Given the description of an element on the screen output the (x, y) to click on. 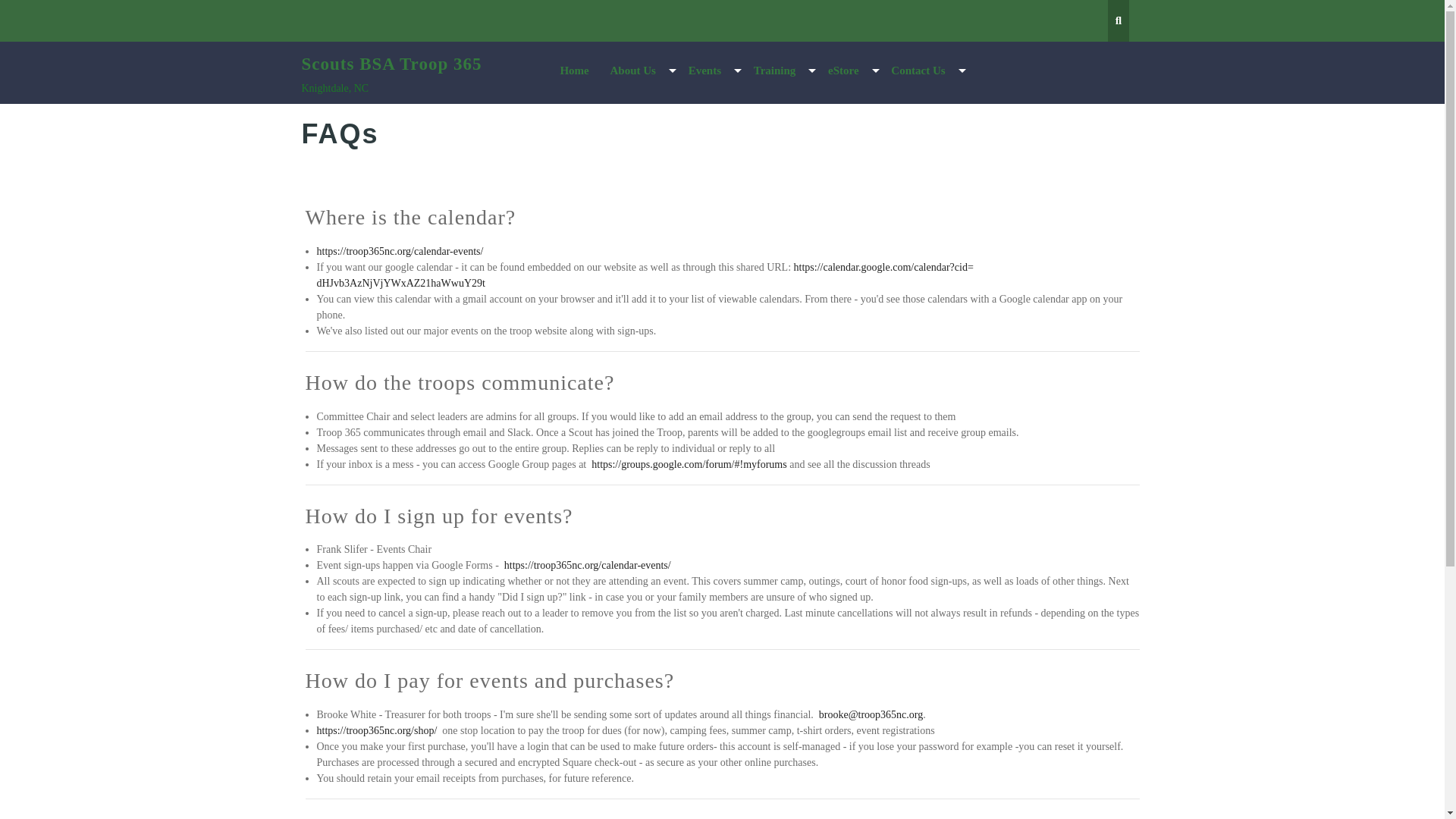
Training (781, 70)
eStore (849, 70)
Events (710, 70)
About Us (638, 70)
Home (573, 70)
Contact Us (923, 70)
Scouts BSA Troop 365 (391, 63)
